Given the description of an element on the screen output the (x, y) to click on. 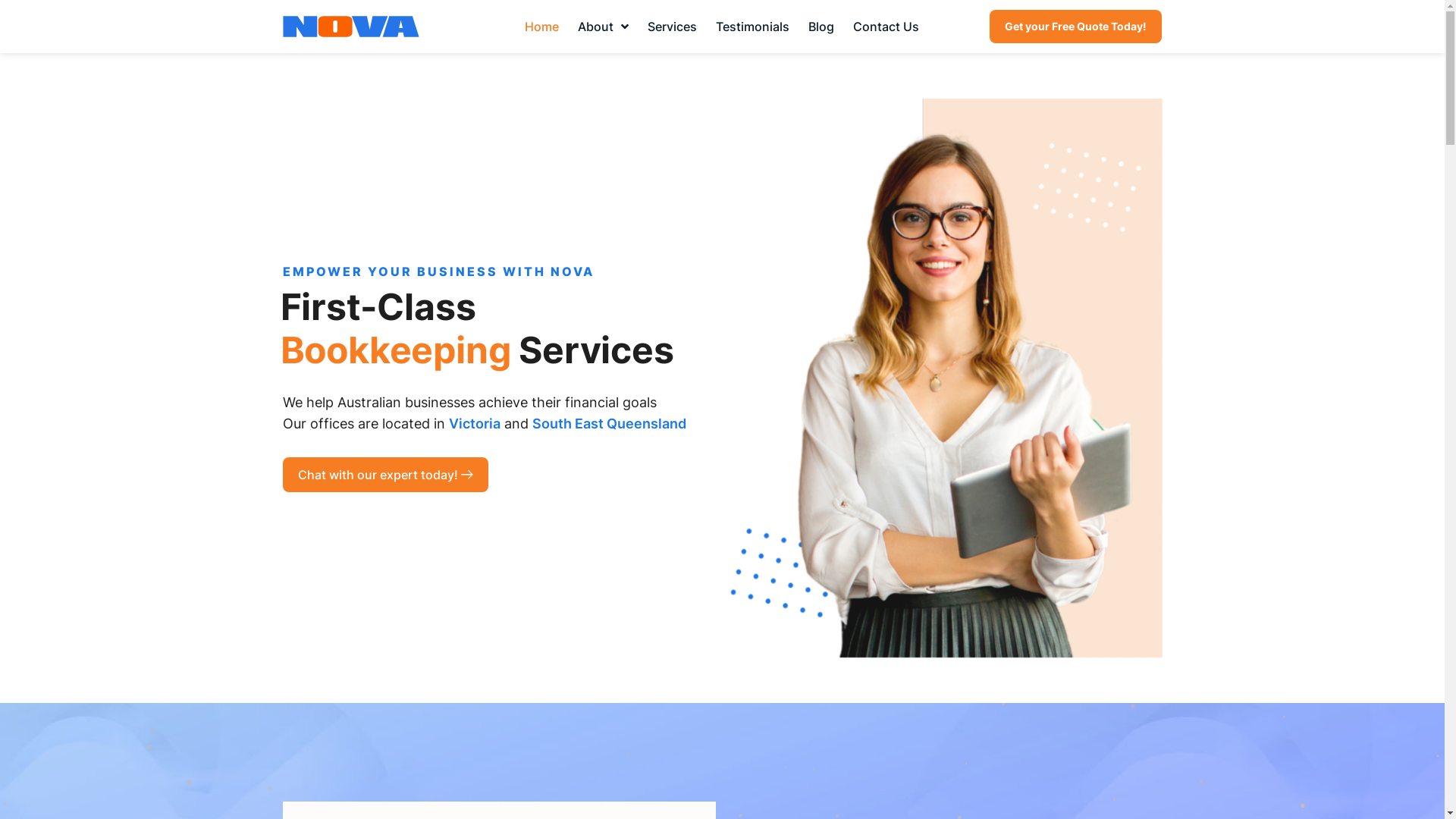
Get your Free Quote Today! Element type: text (1075, 26)
About Element type: text (603, 26)
Services Element type: text (672, 26)
Home Element type: text (541, 26)
Contact Us Element type: text (885, 26)
Testimonials Element type: text (752, 26)
Blog Element type: text (820, 26)
Chat with our expert today! Element type: text (384, 474)
